Given the description of an element on the screen output the (x, y) to click on. 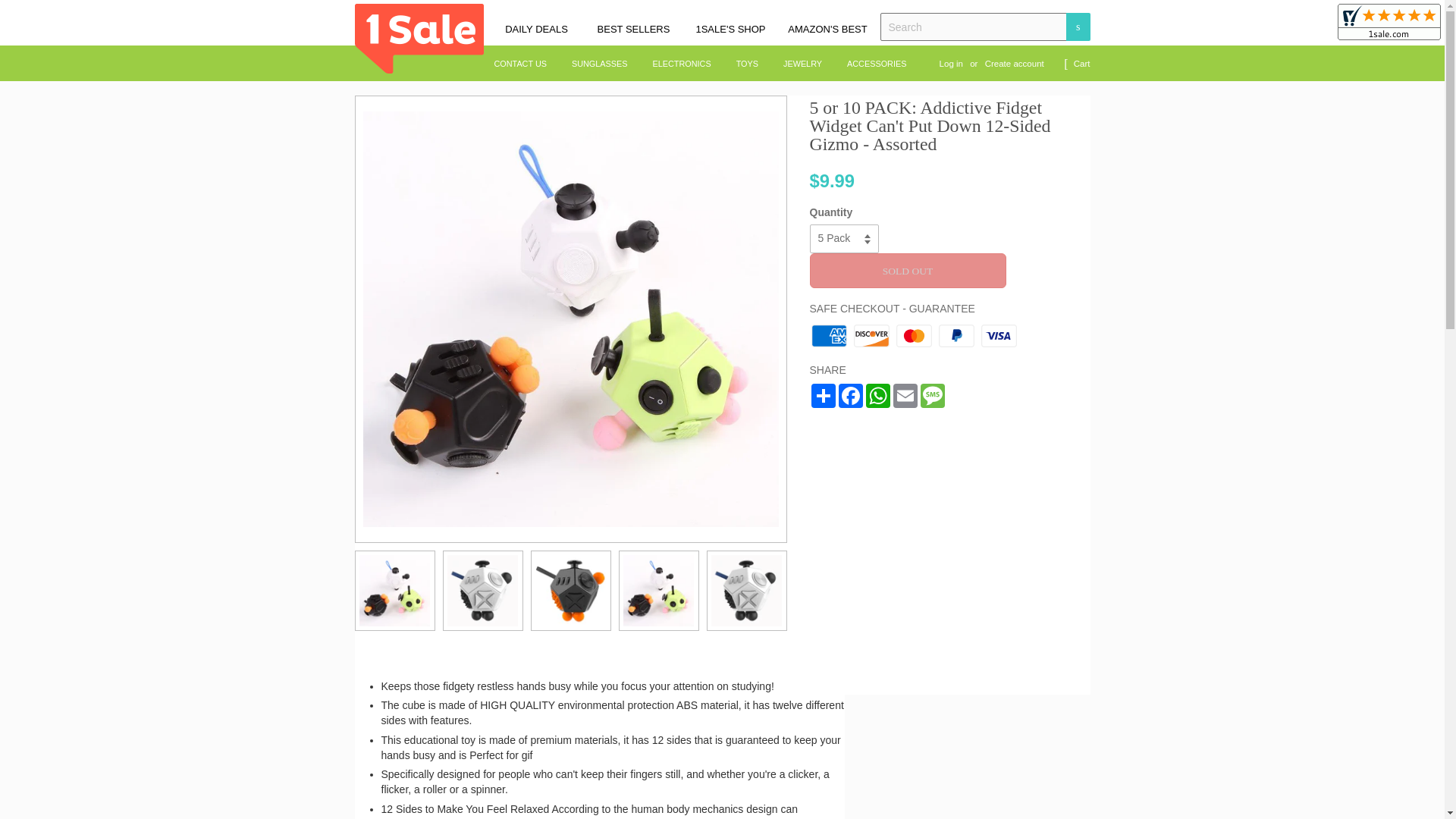
TOYS (747, 63)
Advertisement (978, 749)
Create account (1014, 62)
DAILY DEALS (536, 29)
Cart (1082, 64)
BEST SELLERS (633, 29)
CONTACT US (525, 63)
1SALE'S SHOP (729, 29)
ACCESSORIES (870, 63)
ELECTRONICS (682, 63)
Log in (950, 62)
JEWELRY (801, 63)
SEARCH (1077, 26)
AMAZON'S BEST (827, 29)
SUNGLASSES (599, 63)
